Given the description of an element on the screen output the (x, y) to click on. 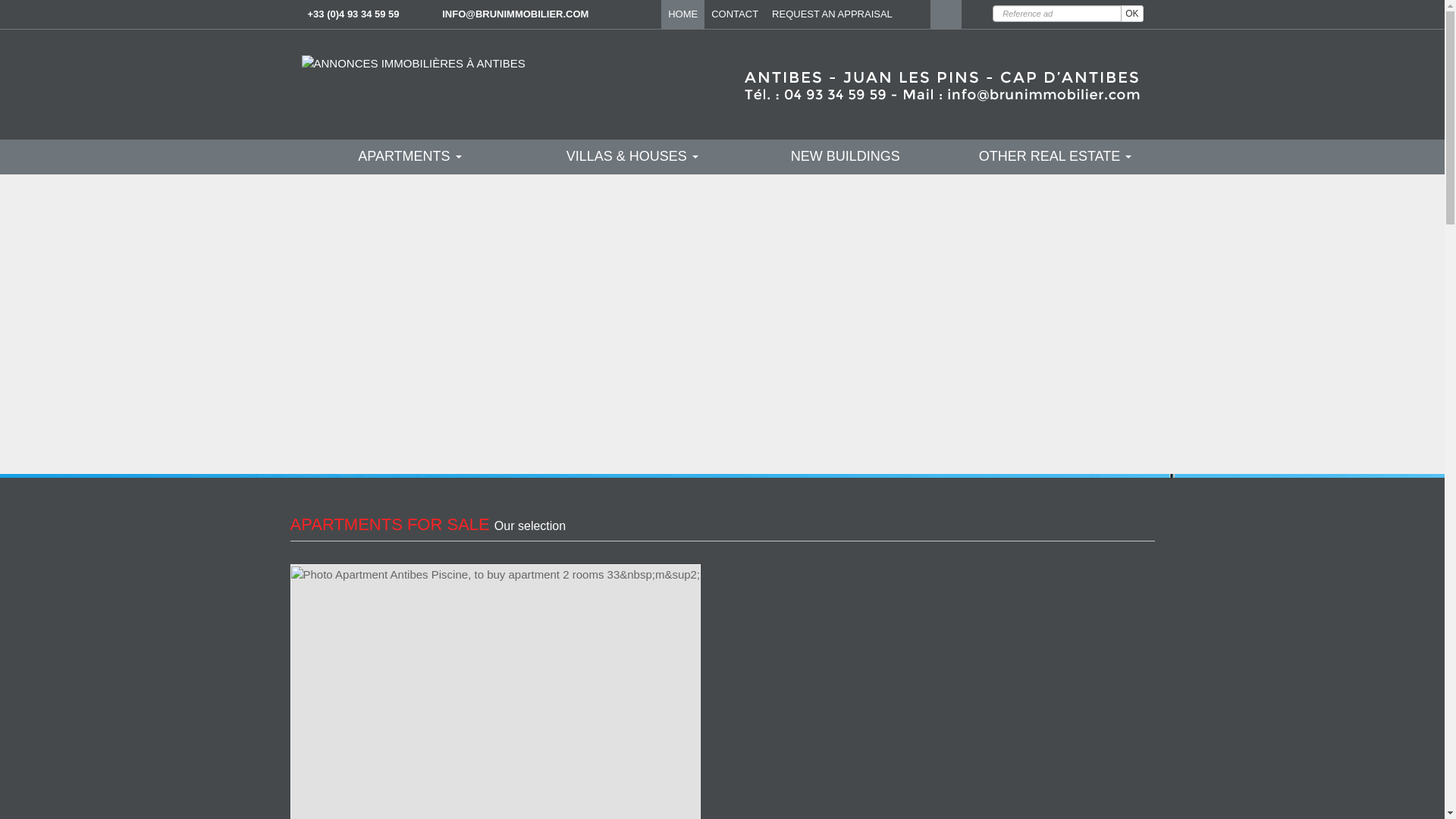
ITALIANO (976, 14)
Potete contattarci parliamo italiano (976, 14)
OK (1131, 13)
Agence Brun immobilier - Immobilier Antibes (413, 63)
Agence Brun immobilier - Immobilier Antibes (937, 81)
ENGLISH (945, 14)
OTHER REAL ESTATE (1055, 156)
Agence Brun immobilier - Immobilier Antibes (413, 62)
CONTACT (734, 14)
Agence Brun immobilier - Immobilier Antibes (914, 14)
